Given the description of an element on the screen output the (x, y) to click on. 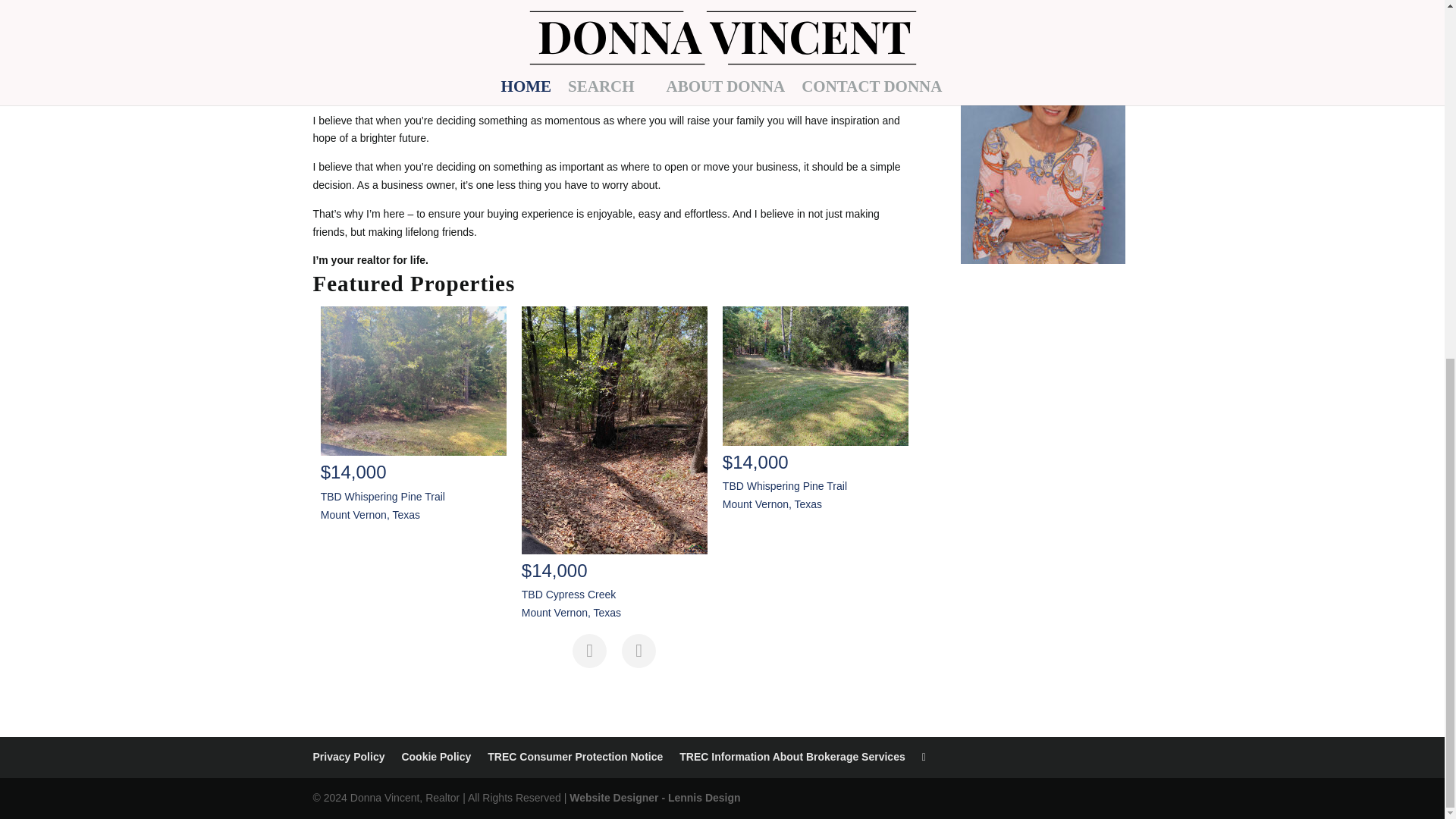
TBD  Whispering Pine Trail  Mount Vernon, Texas (413, 381)
TBD  Cypress Creek  Mount Vernon, Texas (614, 430)
TBD  Whispering Pine Trail  Mount Vernon, Texas (815, 375)
